Given the description of an element on the screen output the (x, y) to click on. 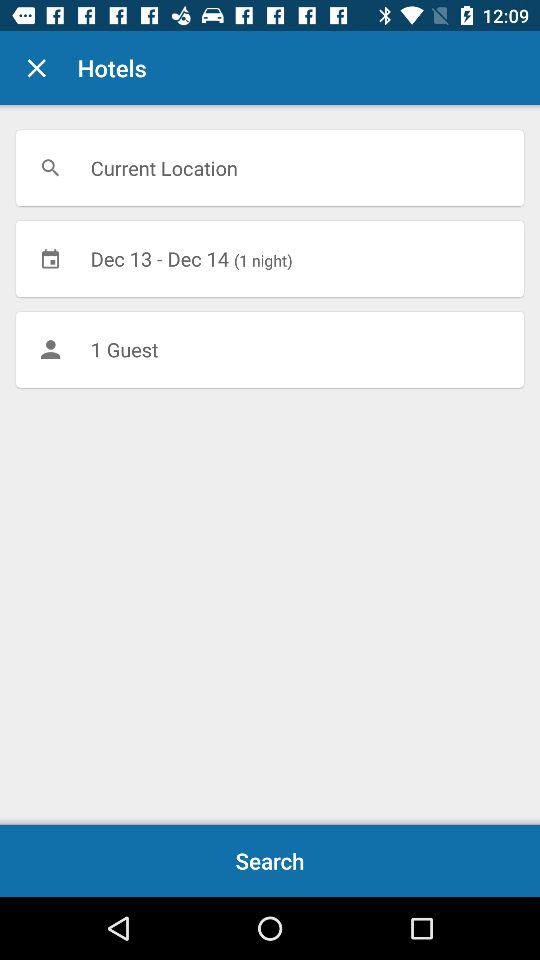
flip until the dec 13 dec (269, 258)
